Given the description of an element on the screen output the (x, y) to click on. 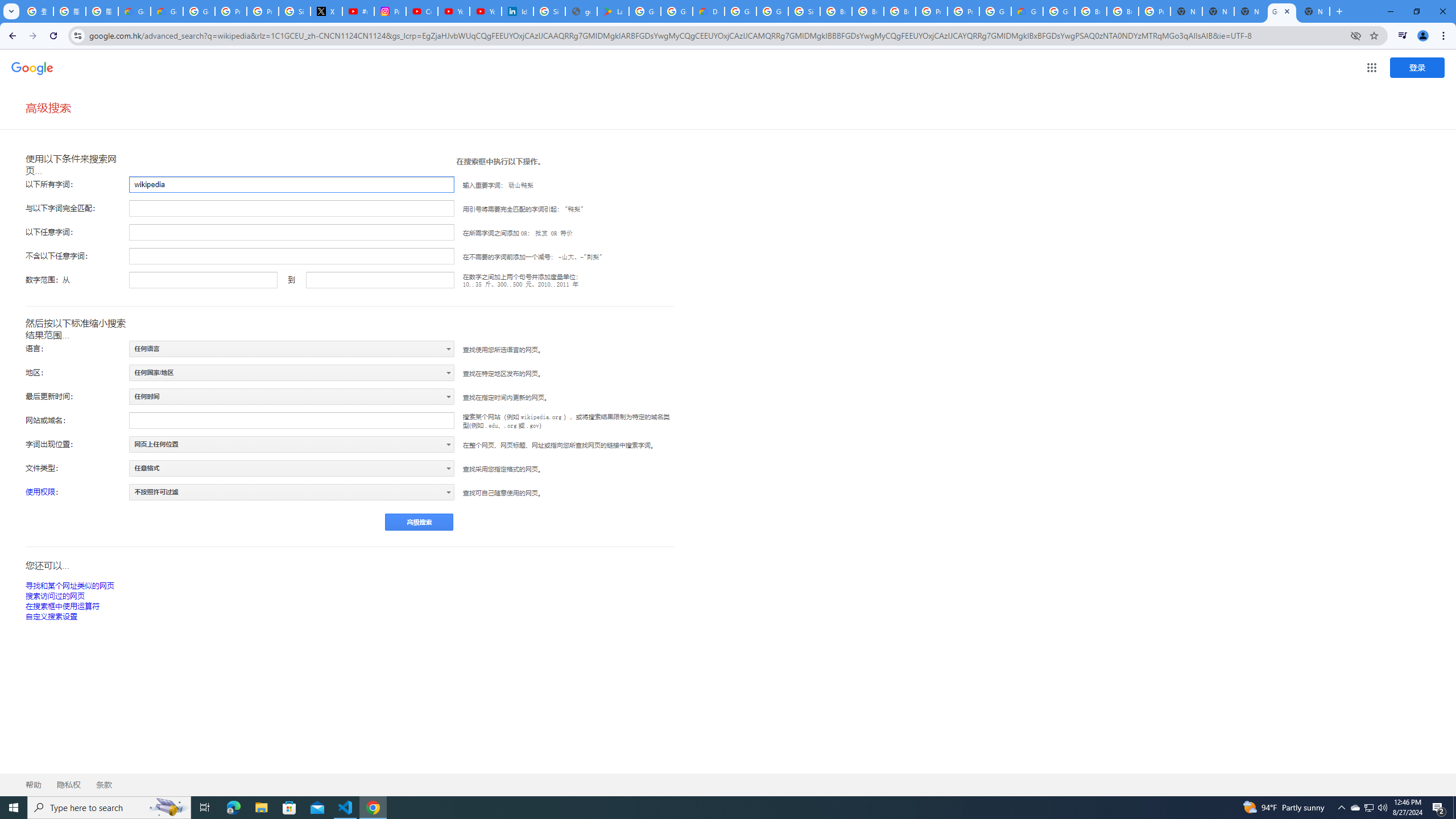
Google Cloud Estimate Summary (1027, 11)
Browse Chrome as a guest - Computer - Google Chrome Help (836, 11)
New Tab (1313, 11)
Google Cloud Platform (1059, 11)
Privacy Help Center - Policies Help (262, 11)
